Given the description of an element on the screen output the (x, y) to click on. 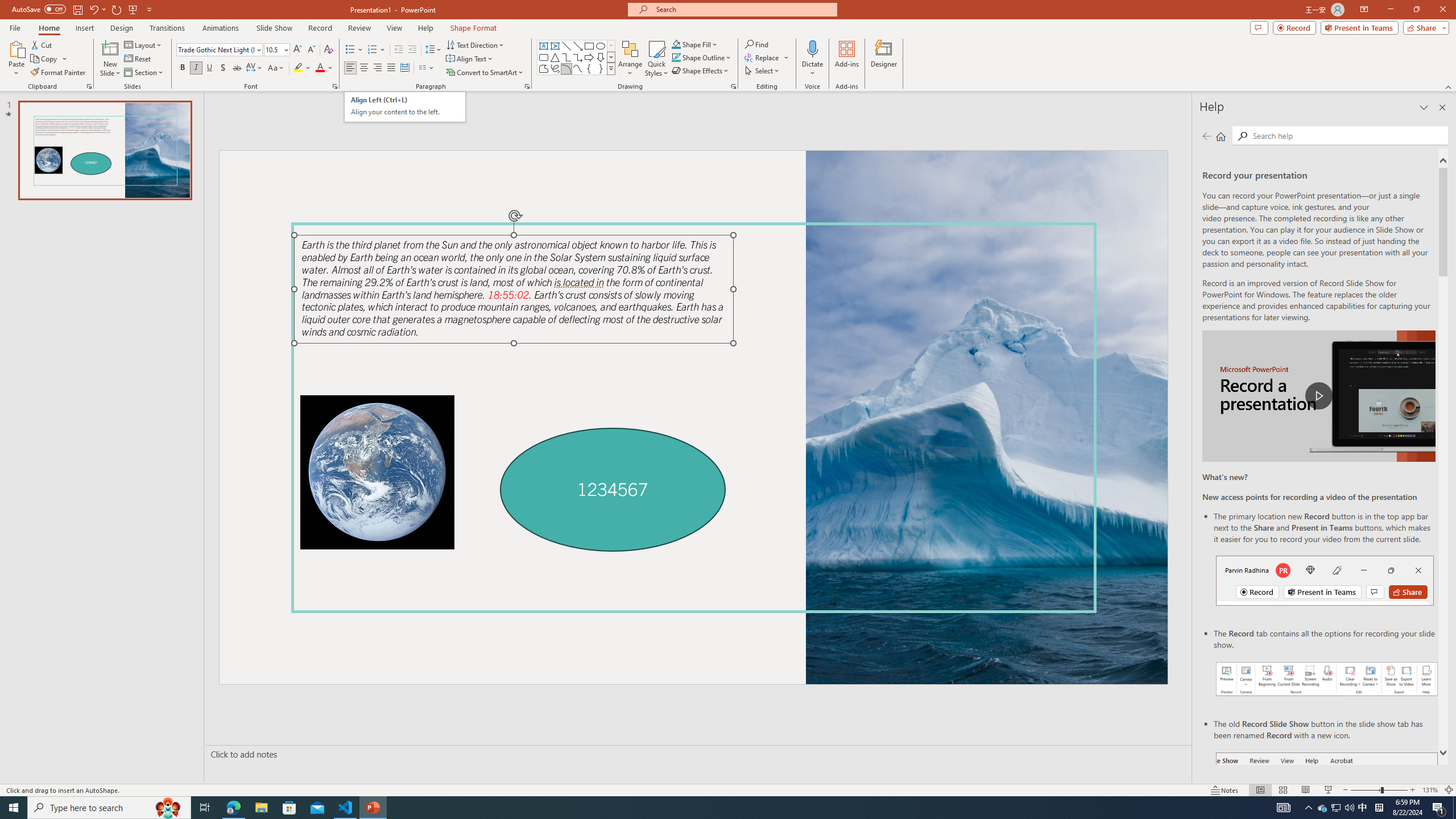
Shape Fill Aqua, Accent 2 (675, 44)
